Given the description of an element on the screen output the (x, y) to click on. 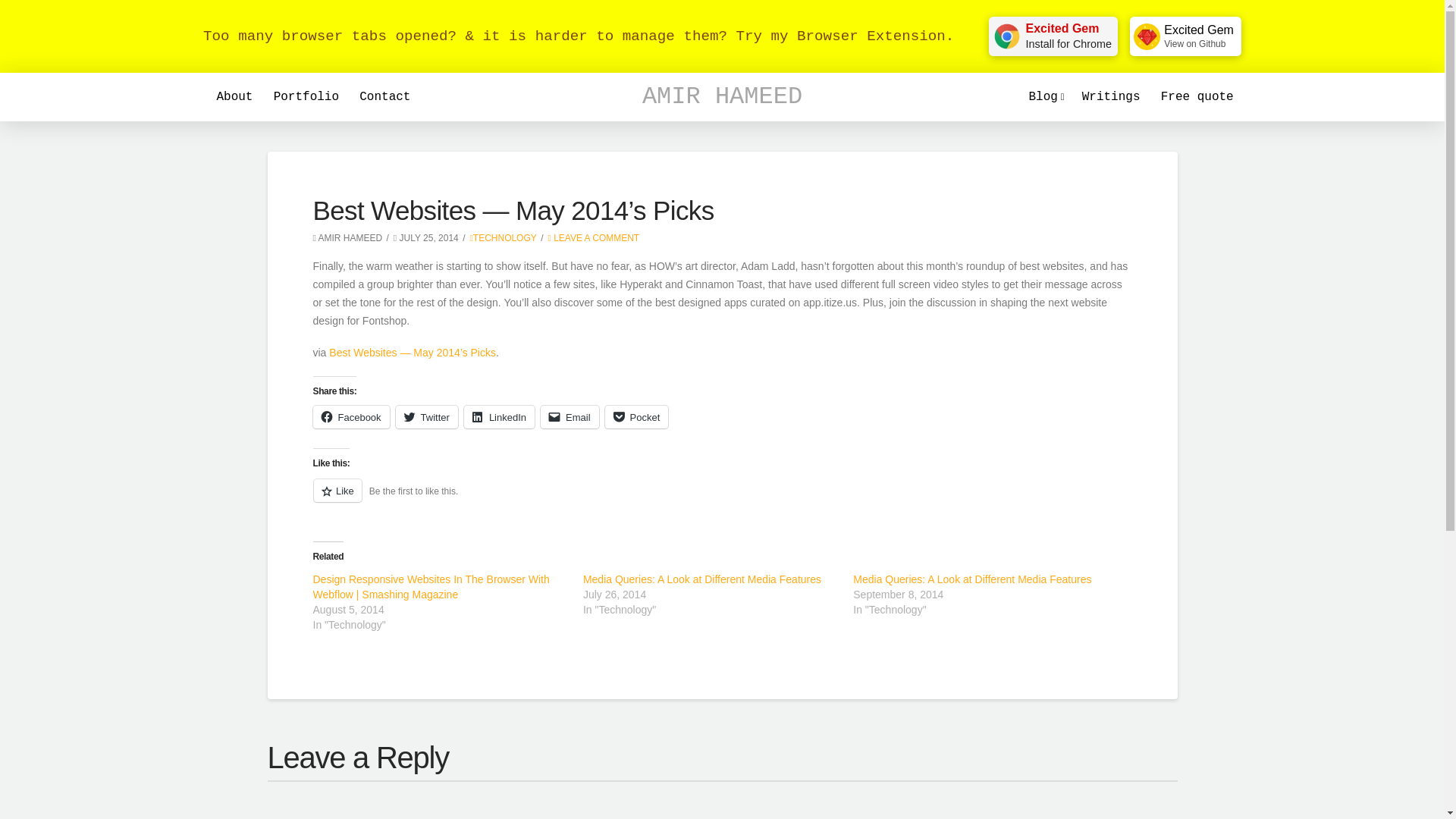
Contact (384, 96)
Pocket (636, 416)
Written by Me (1110, 96)
Email (569, 416)
Blog (1044, 96)
Click to email a link to a friend (569, 416)
Comment Form (721, 799)
Portfolio (306, 96)
Free quote (1196, 96)
Media Queries: A Look at Different Media Features (971, 579)
